Given the description of an element on the screen output the (x, y) to click on. 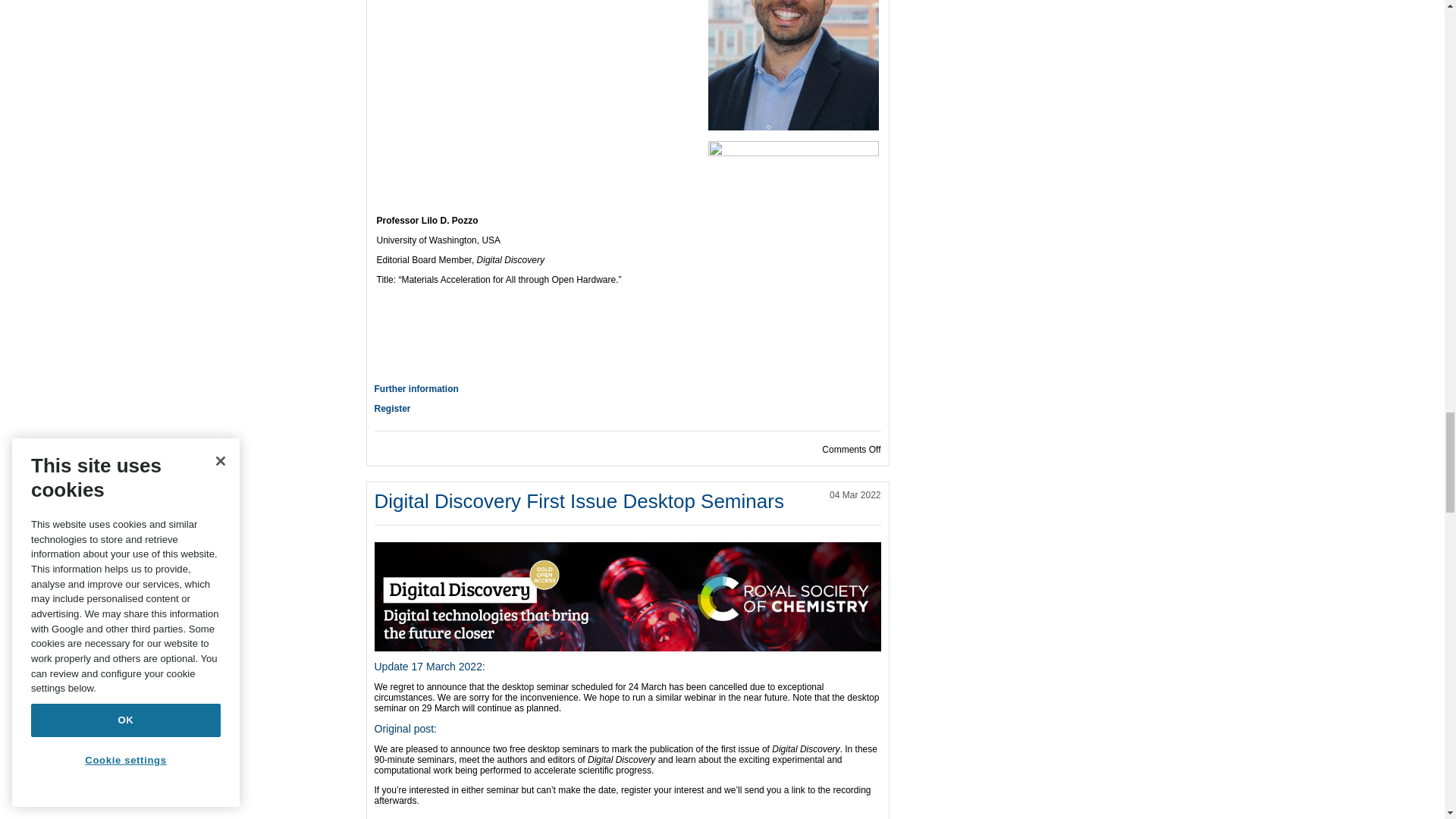
Further information (416, 388)
Register (392, 408)
Digital Discovery First Issue Desktop Seminars (579, 500)
